Given the description of an element on the screen output the (x, y) to click on. 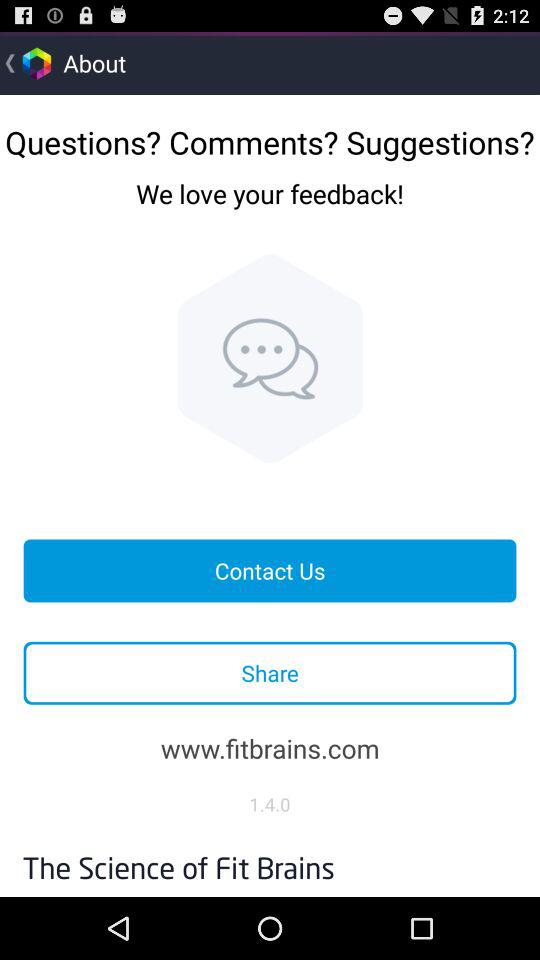
open the questions? comments? suggestions? icon (270, 134)
